Given the description of an element on the screen output the (x, y) to click on. 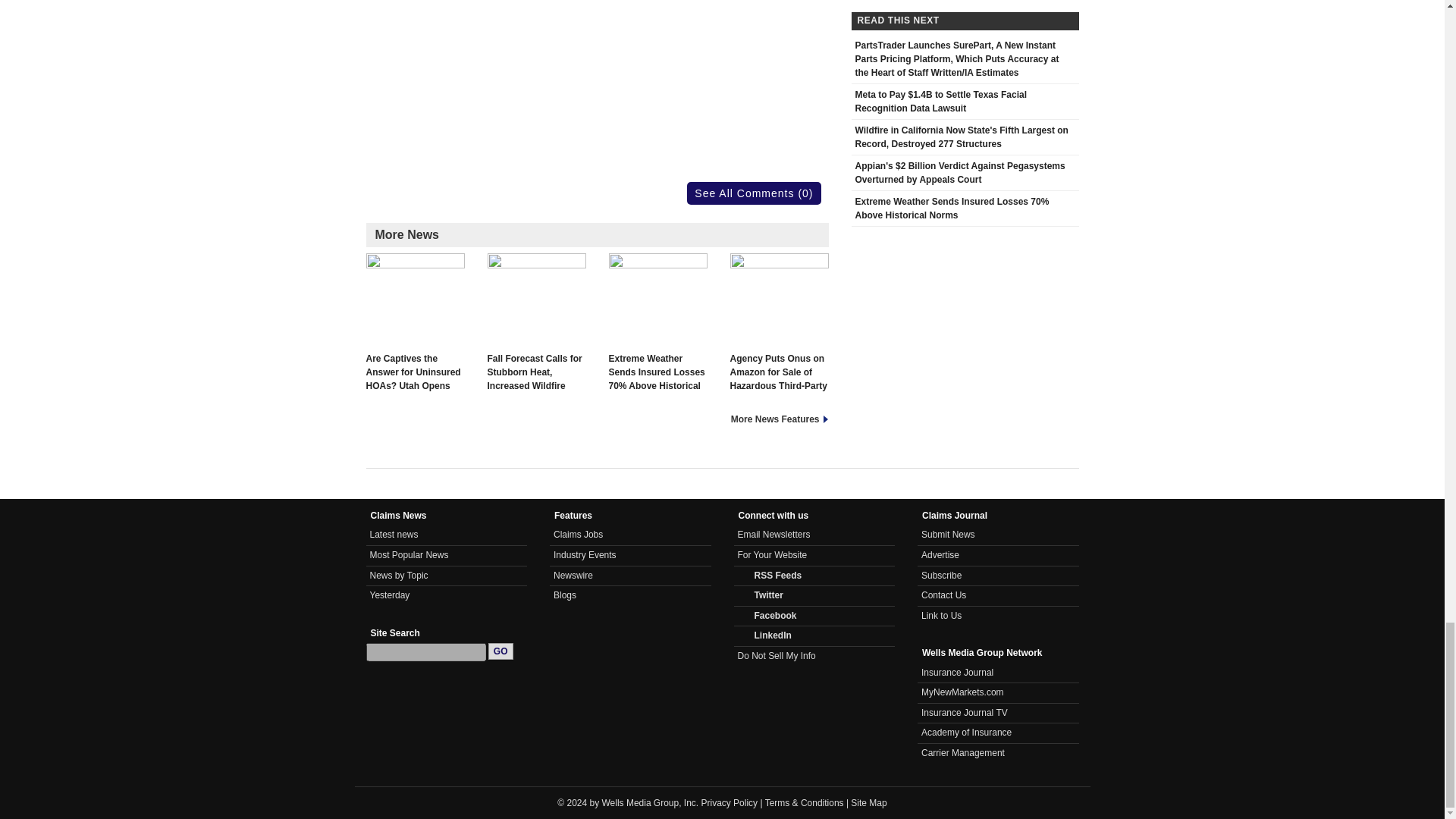
Go (500, 651)
Insurance Market Search Engine (962, 692)
Insurance News by Topic (398, 575)
